Given the description of an element on the screen output the (x, y) to click on. 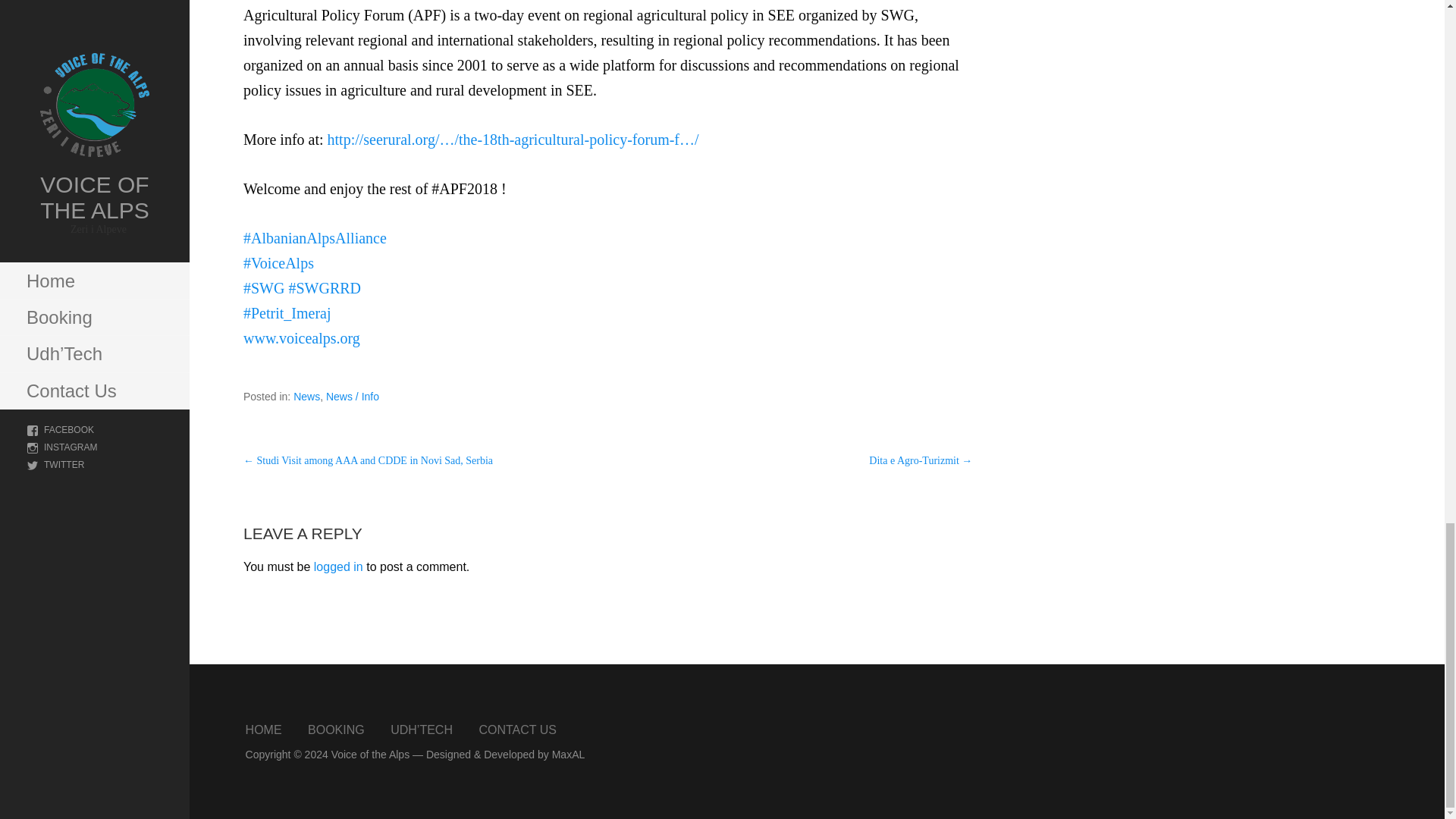
www.voicealps.org (301, 338)
logged in (338, 566)
News (307, 396)
